Given the description of an element on the screen output the (x, y) to click on. 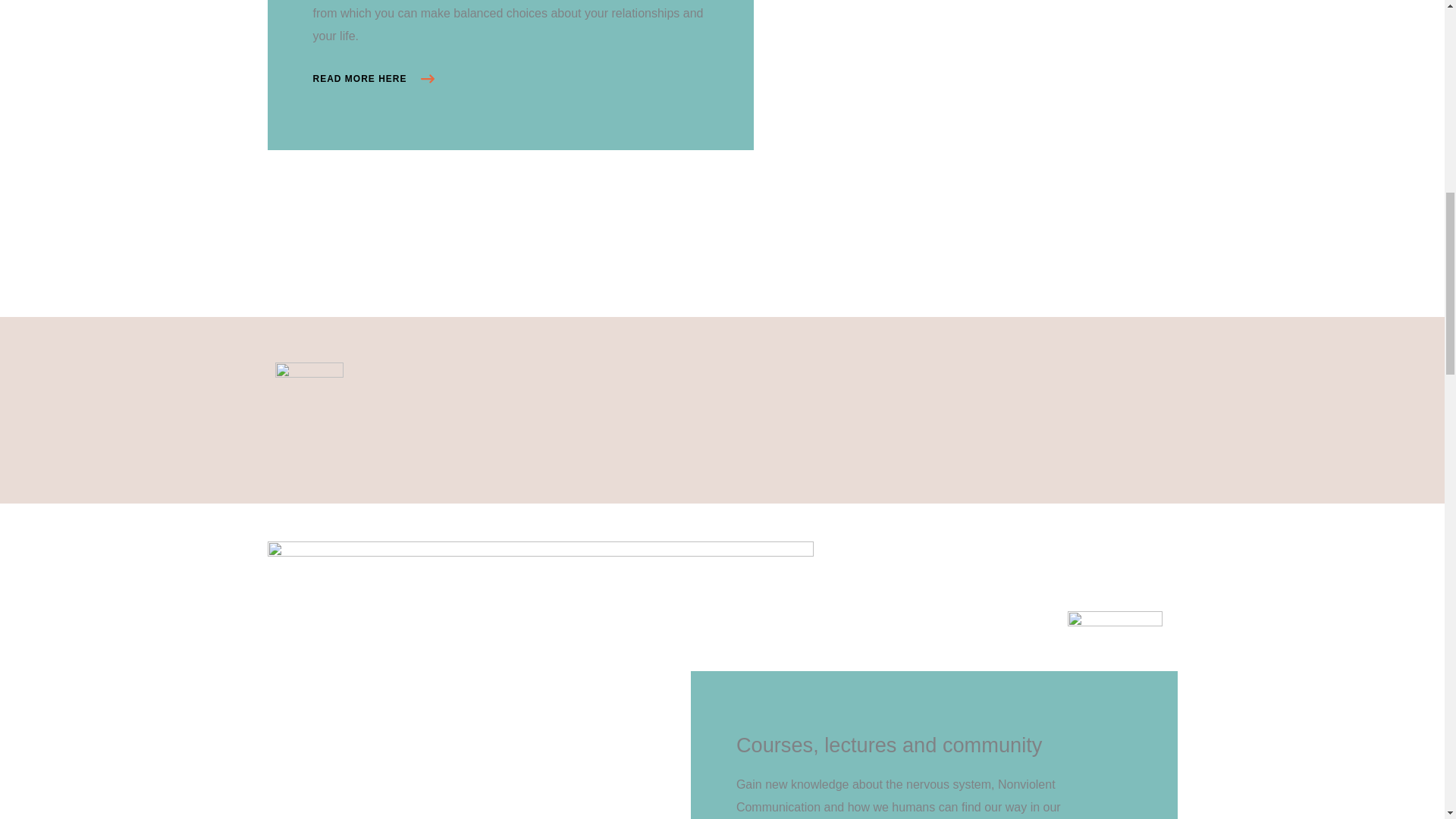
READ MORE HERE (373, 78)
